Given the description of an element on the screen output the (x, y) to click on. 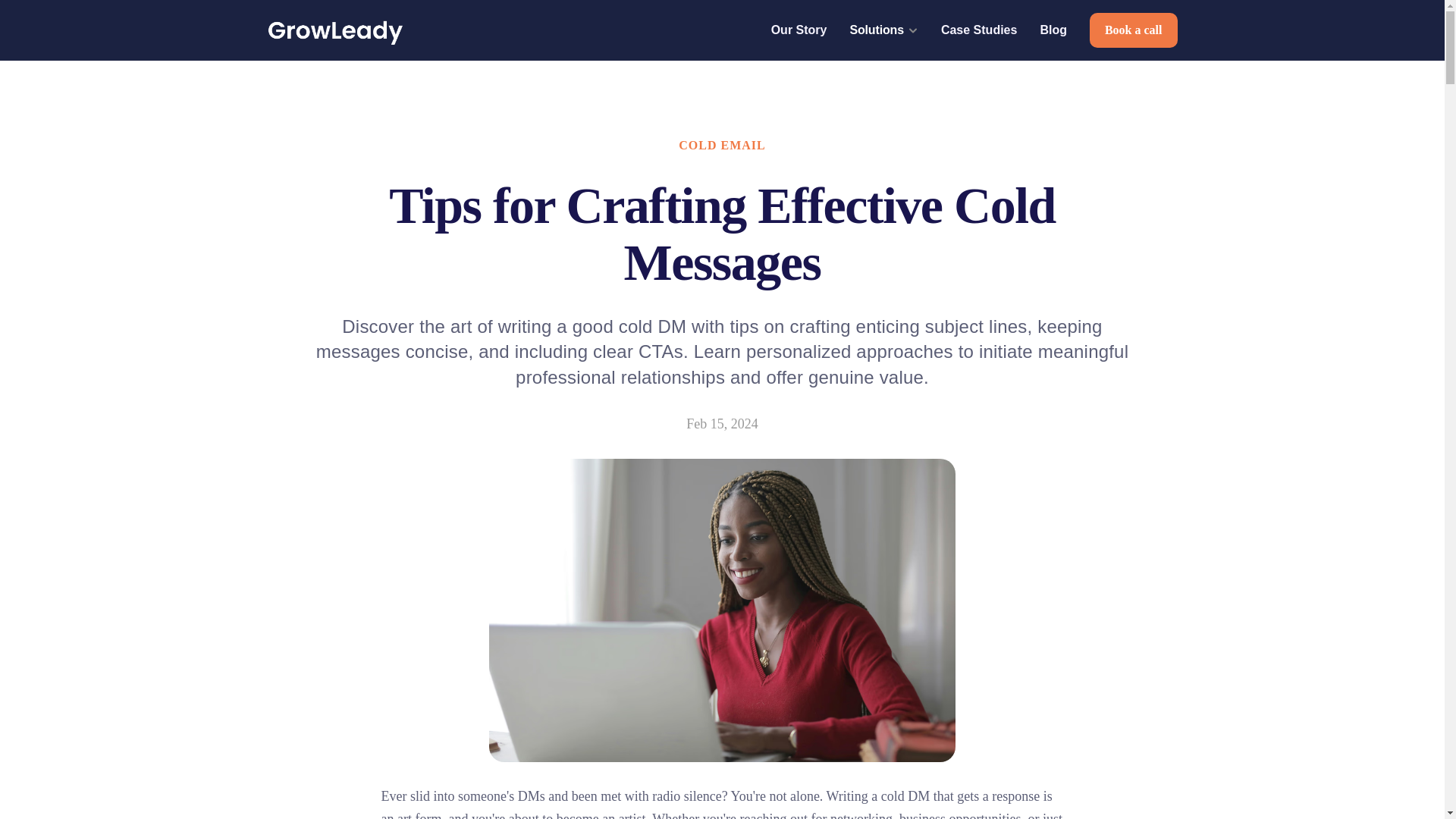
Case Studies (978, 29)
Book a call (1133, 30)
Blog (1053, 29)
Our Story (799, 29)
